Given the description of an element on the screen output the (x, y) to click on. 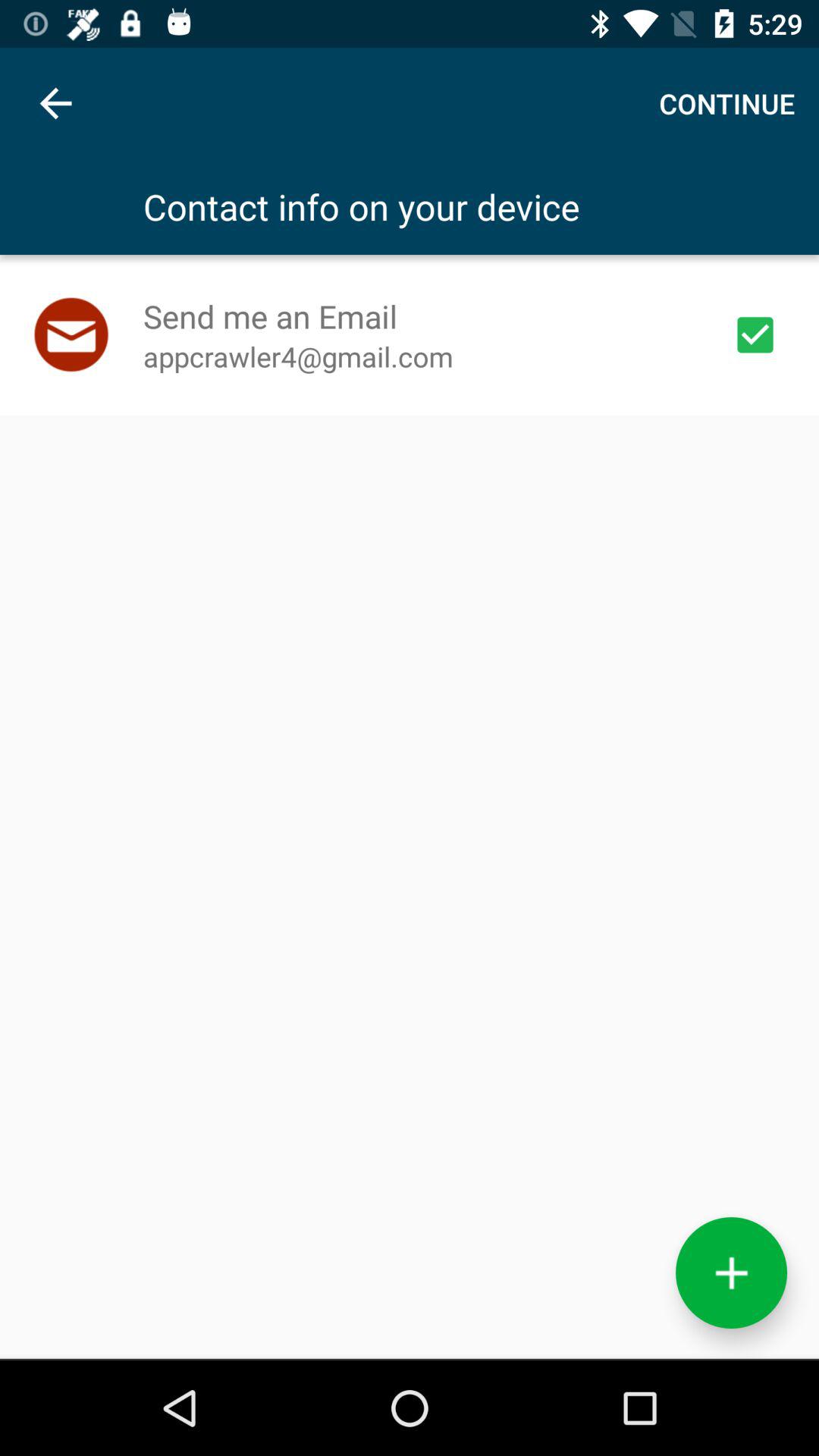
swipe until the continue icon (727, 103)
